Given the description of an element on the screen output the (x, y) to click on. 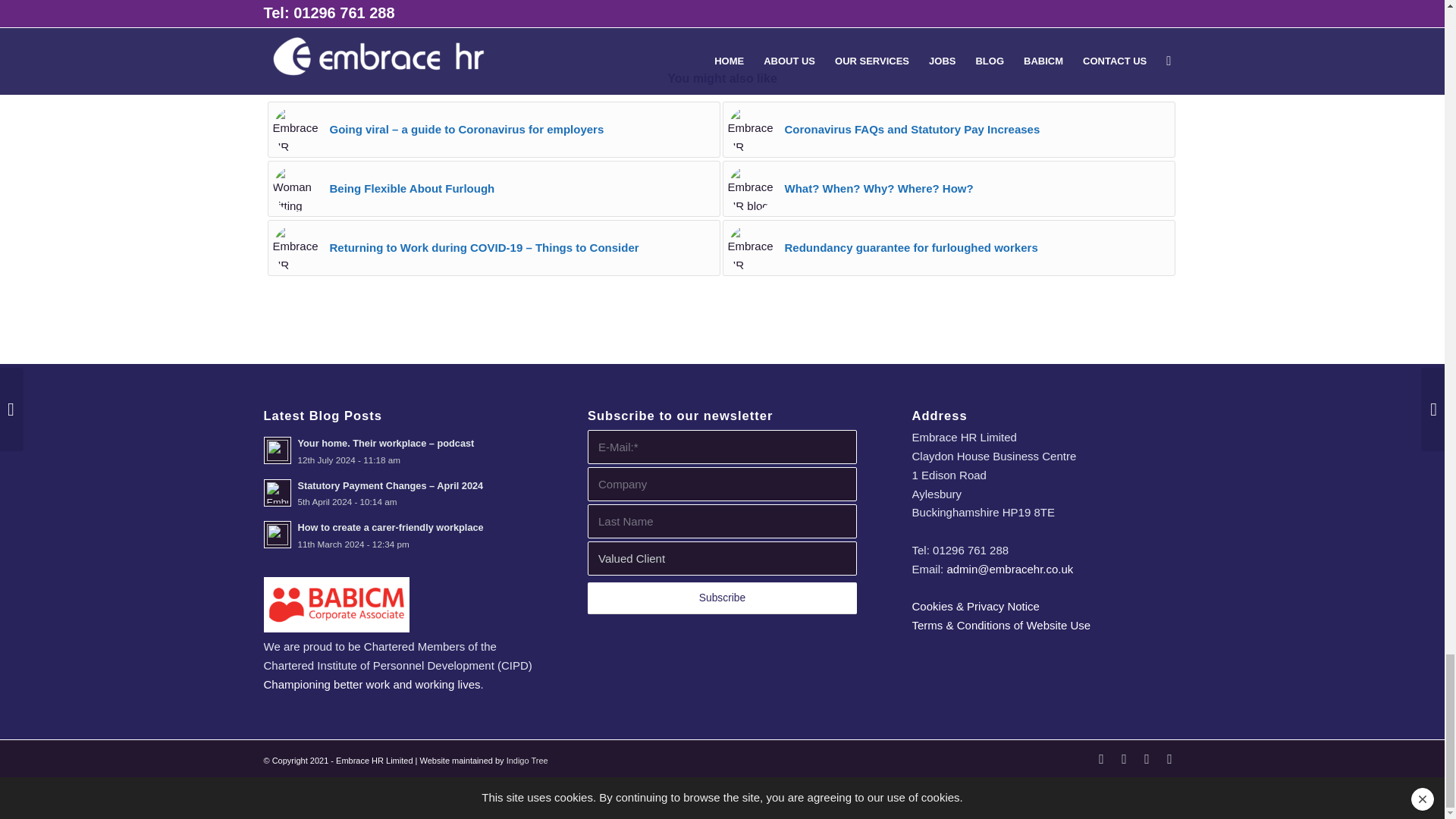
woman-sitting-on-luggage-3943882 (295, 188)
Being Flexible About Furlough (492, 188)
social-media-image-stella-support-worker (295, 129)
Coronavirus FAQs and Statutory Pay Increases (948, 129)
Valued Client (722, 558)
Subscribe (722, 598)
Embrace HR Aylesbury key worker pexels-anna-shvets-3683098 (750, 129)
